Given the description of an element on the screen output the (x, y) to click on. 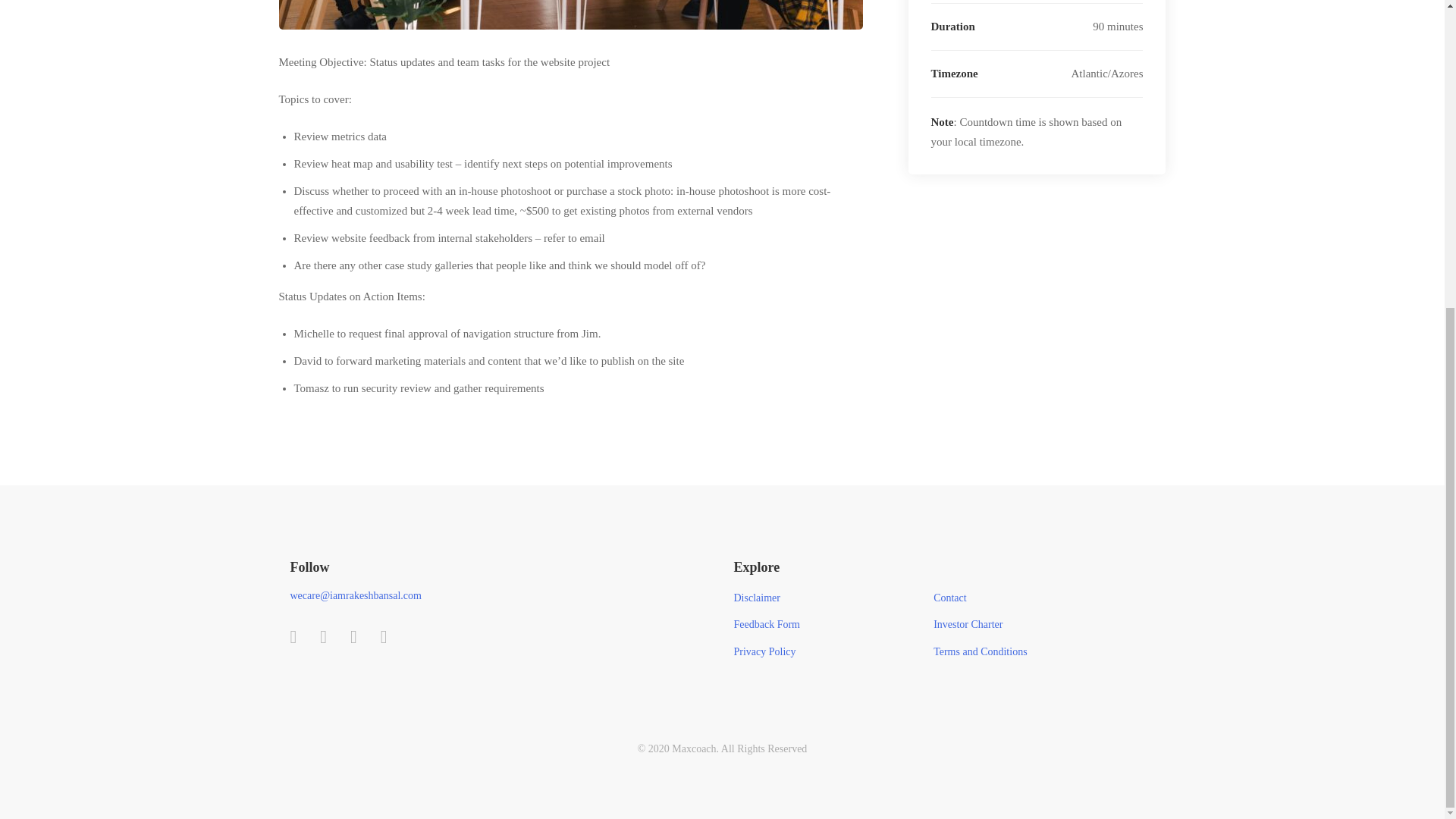
Investor Charter (968, 624)
Feedback Form (766, 624)
Contact (949, 597)
Terms and Conditions (979, 651)
Privacy Policy (764, 651)
Disclaimer (756, 597)
